Given the description of an element on the screen output the (x, y) to click on. 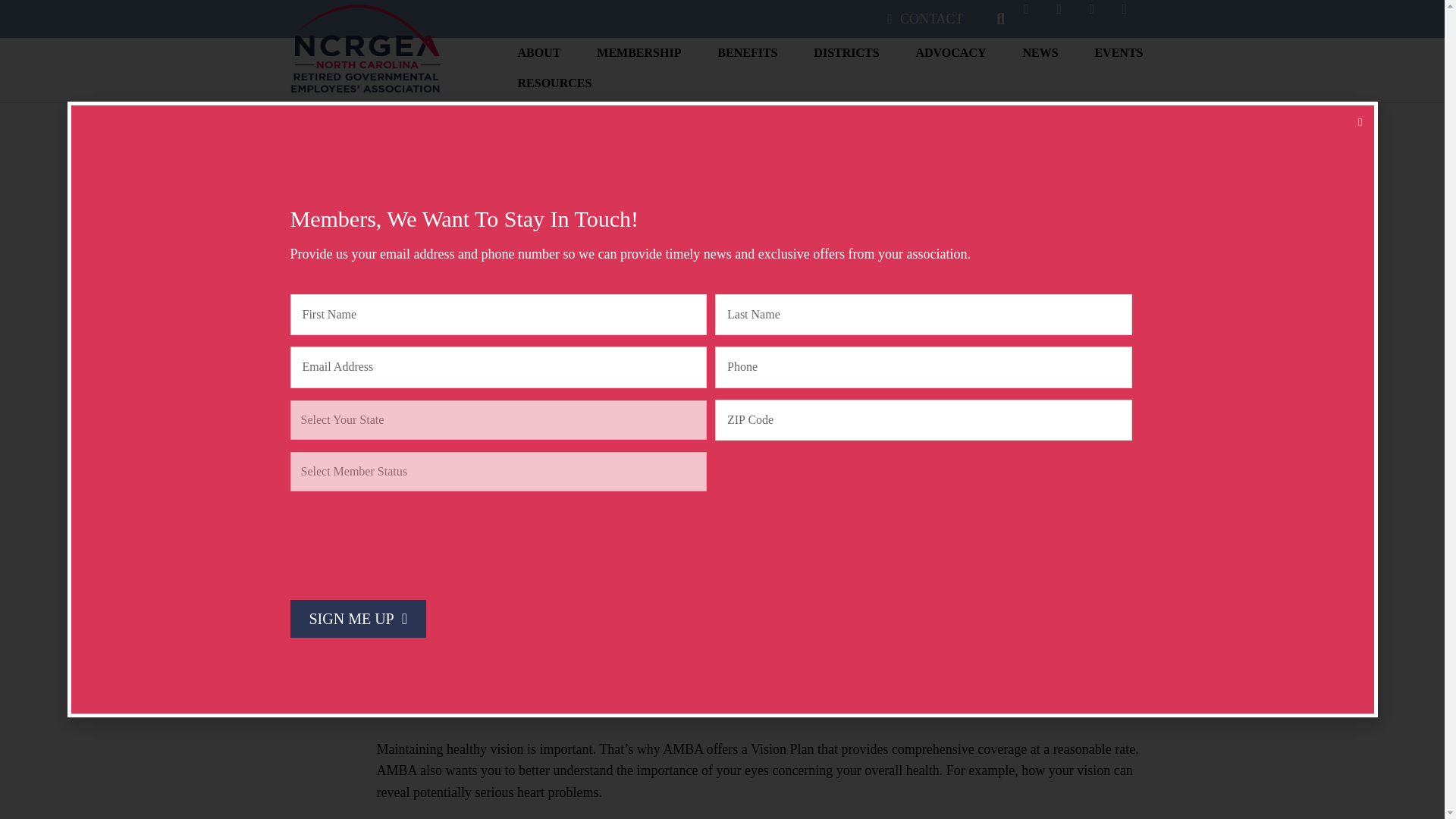
ABOUT (539, 56)
CONTACT (925, 19)
